Given the description of an element on the screen output the (x, y) to click on. 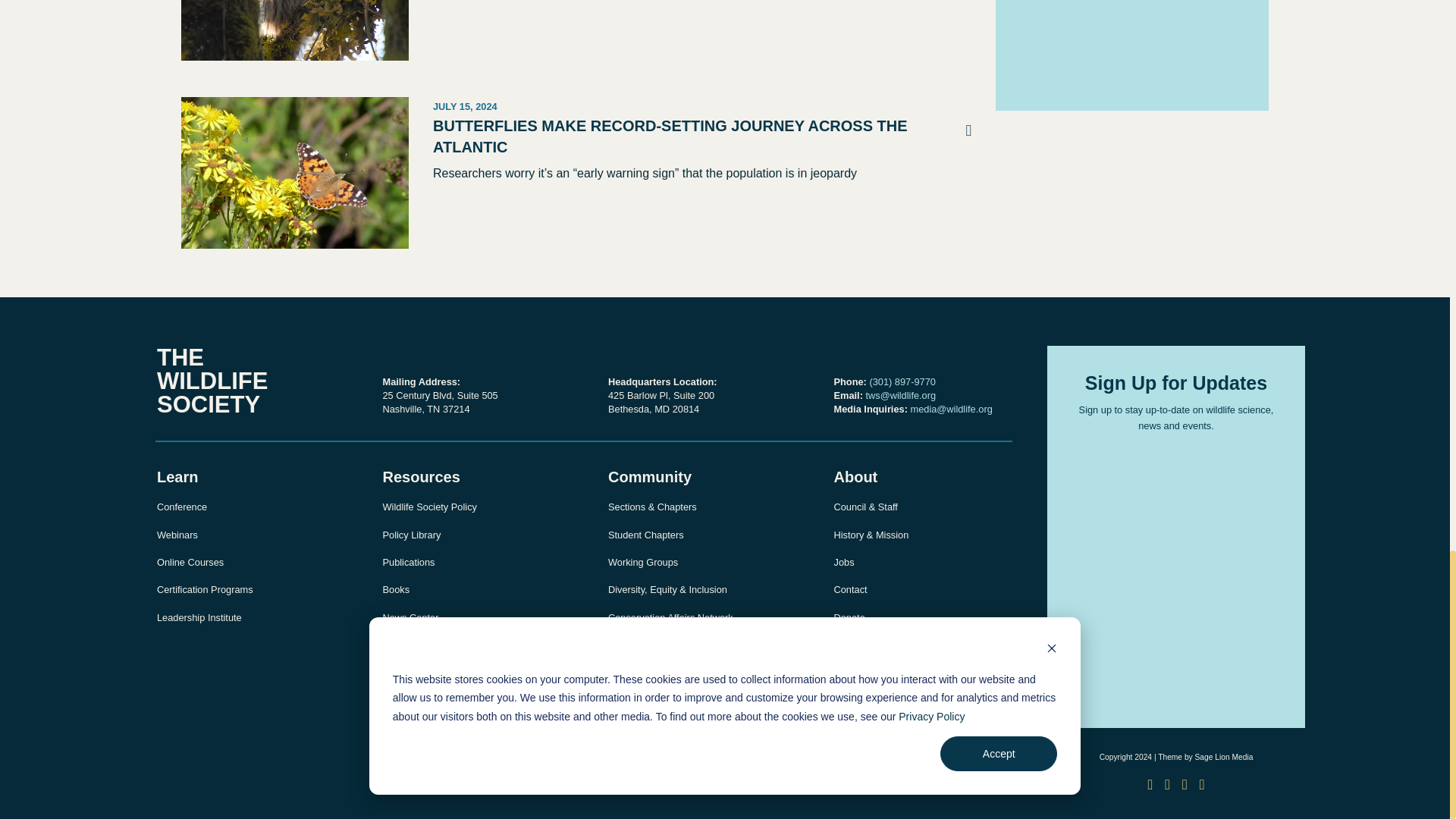
Form 0 (1132, 43)
